Given the description of an element on the screen output the (x, y) to click on. 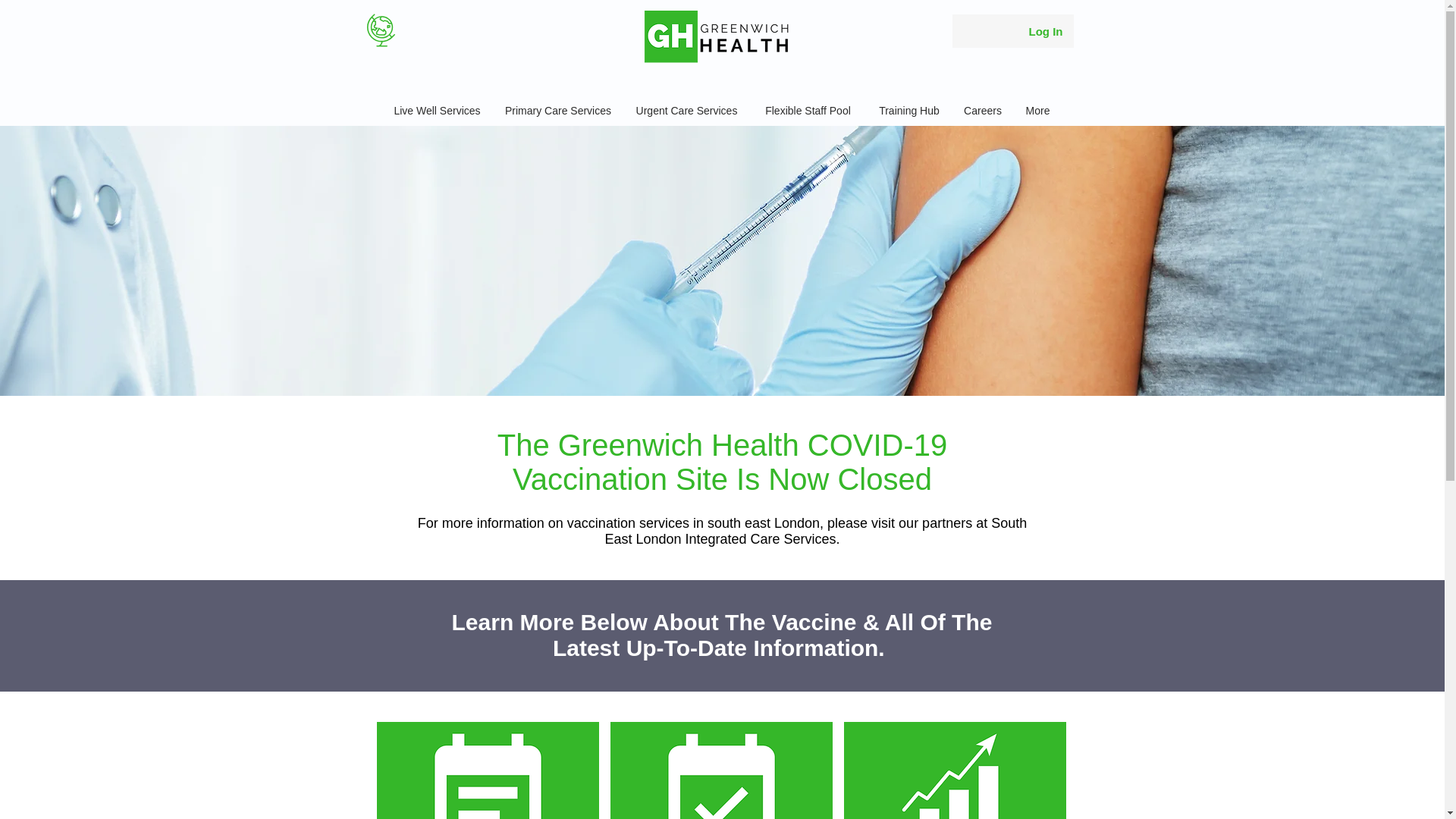
Log In (1045, 30)
Walk-in vaccination clinics (486, 770)
Flexible Staff Pool (807, 110)
How to book your vaccine (721, 770)
Latest in south-east London (954, 770)
Training Hub (909, 110)
